Given the description of an element on the screen output the (x, y) to click on. 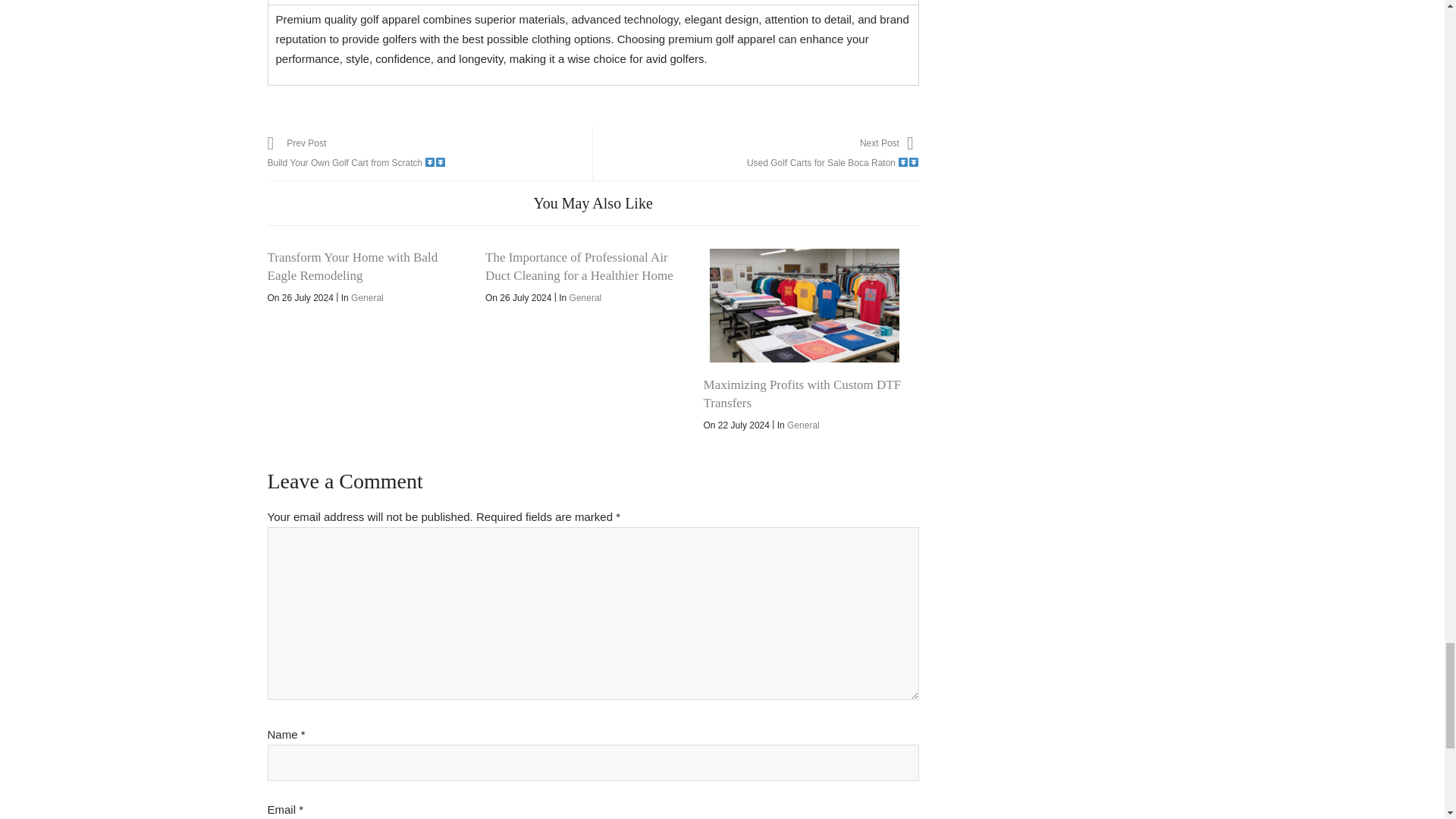
General (367, 297)
General (429, 153)
Transform Your Home with Bald Eagle Remodeling (803, 425)
Maximizing Profits with Custom DTF Transfers (352, 266)
General (804, 305)
Maximizing Profits with Custom DTF Transfers (755, 153)
